Given the description of an element on the screen output the (x, y) to click on. 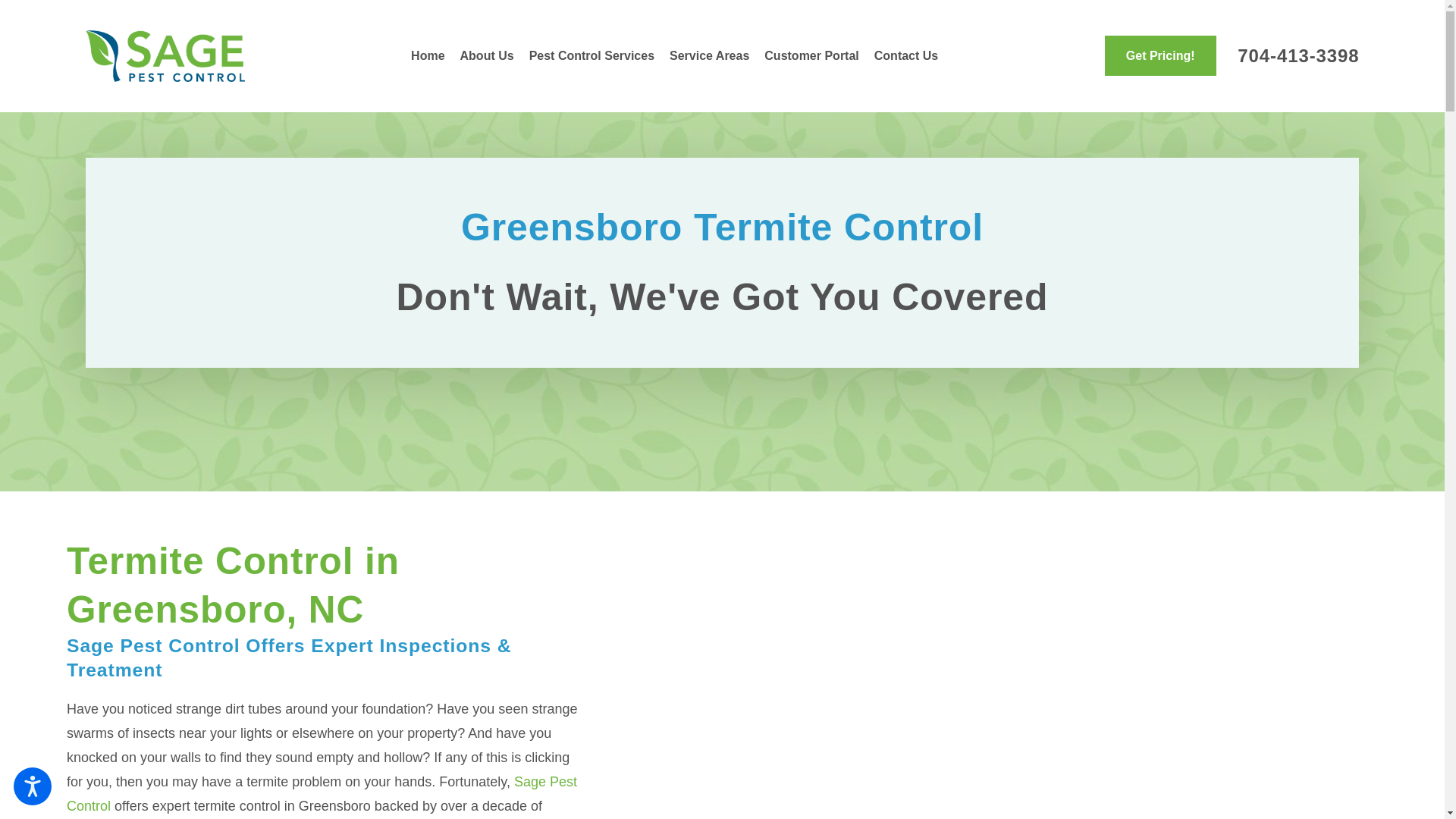
Service Areas (709, 56)
Home (430, 56)
About Us (486, 56)
Pest Control Services (591, 56)
Open the accessibility options menu (31, 786)
Sage Pest Control (164, 55)
